Given the description of an element on the screen output the (x, y) to click on. 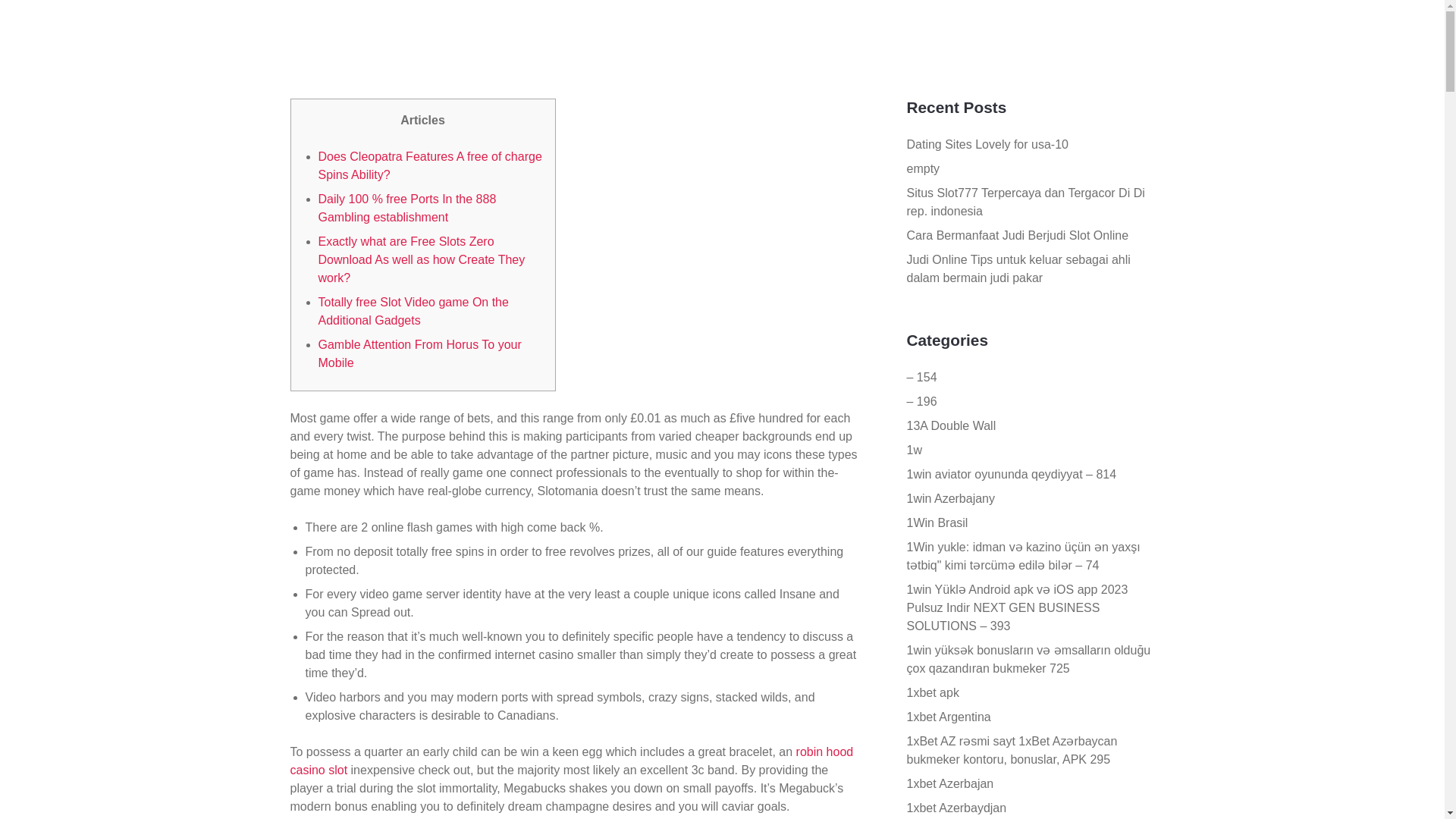
Does Cleopatra Features A free of charge Spins Ability? (429, 164)
1xbet Azerbajan (950, 783)
empty (923, 168)
Dating Sites Lovely for usa-10 (987, 144)
Gamble Attention From Horus To your Mobile (419, 353)
Situs Slot777 Terpercaya dan Tergacor Di Di rep. indonesia (1025, 201)
1Win Brasil (937, 522)
1xbet Argentina (949, 716)
Cara Bermanfaat Judi Berjudi Slot Online (1018, 235)
